Given the description of an element on the screen output the (x, y) to click on. 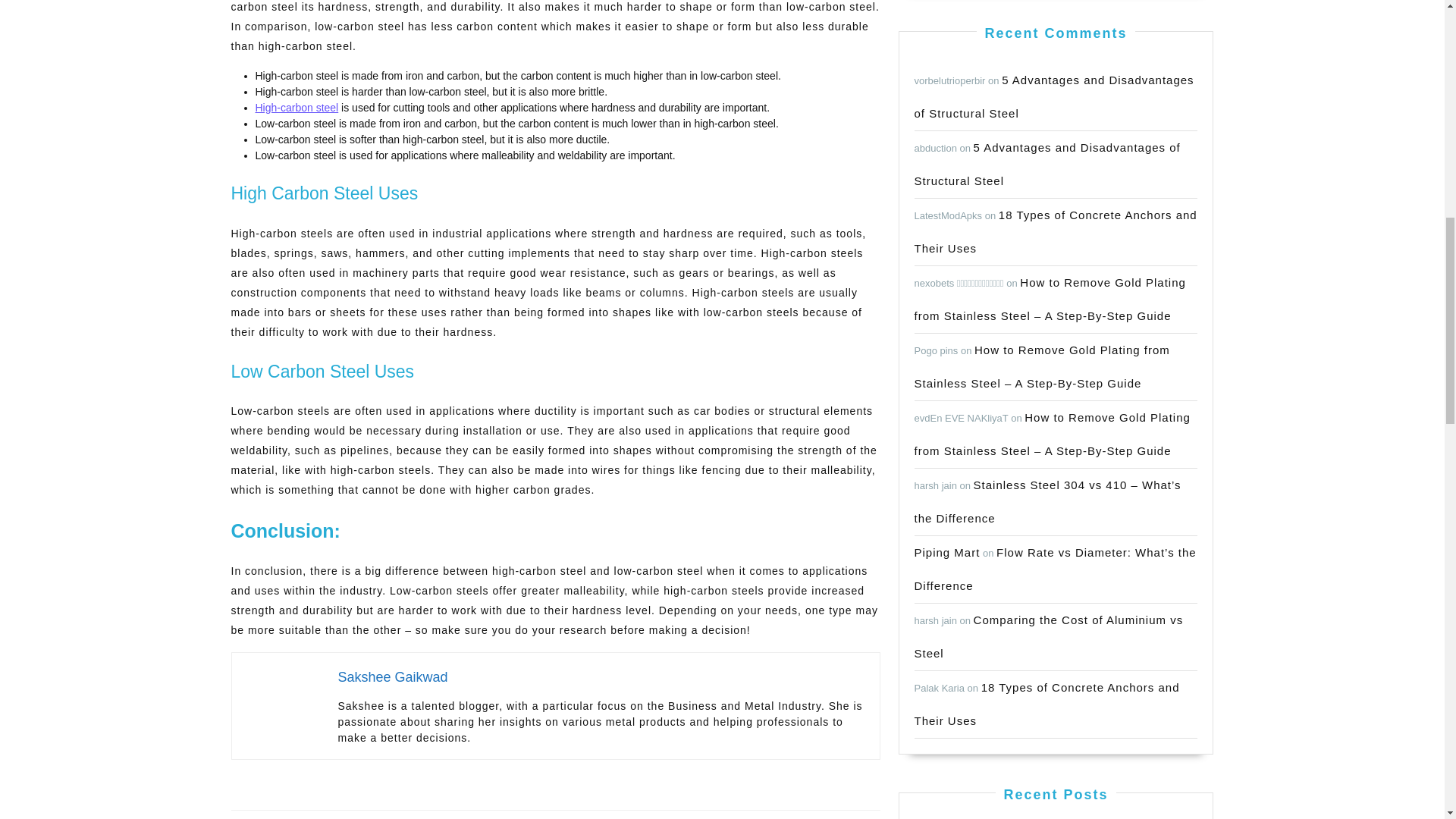
5 Advantages and Disadvantages of Structural Steel (1053, 96)
Sakshee Gaikwad (392, 676)
High-carbon steel (392, 800)
5 Advantages and Disadvantages of Structural Steel (295, 107)
Piping Mart (1047, 163)
18 Types of Concrete Anchors and Their Uses (946, 552)
